Given the description of an element on the screen output the (x, y) to click on. 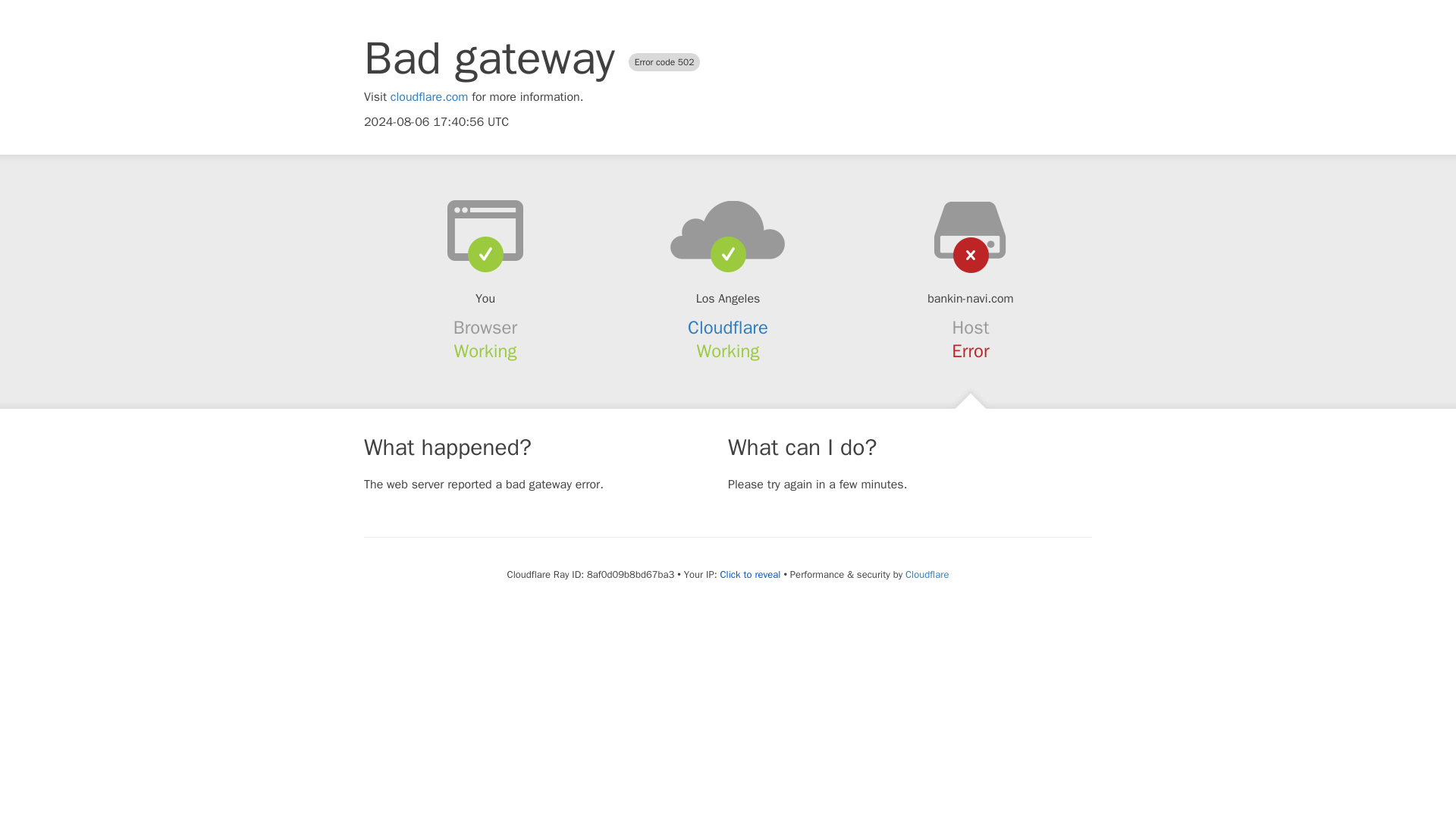
Cloudflare (927, 574)
Click to reveal (750, 574)
cloudflare.com (429, 96)
Cloudflare (727, 327)
